Given the description of an element on the screen output the (x, y) to click on. 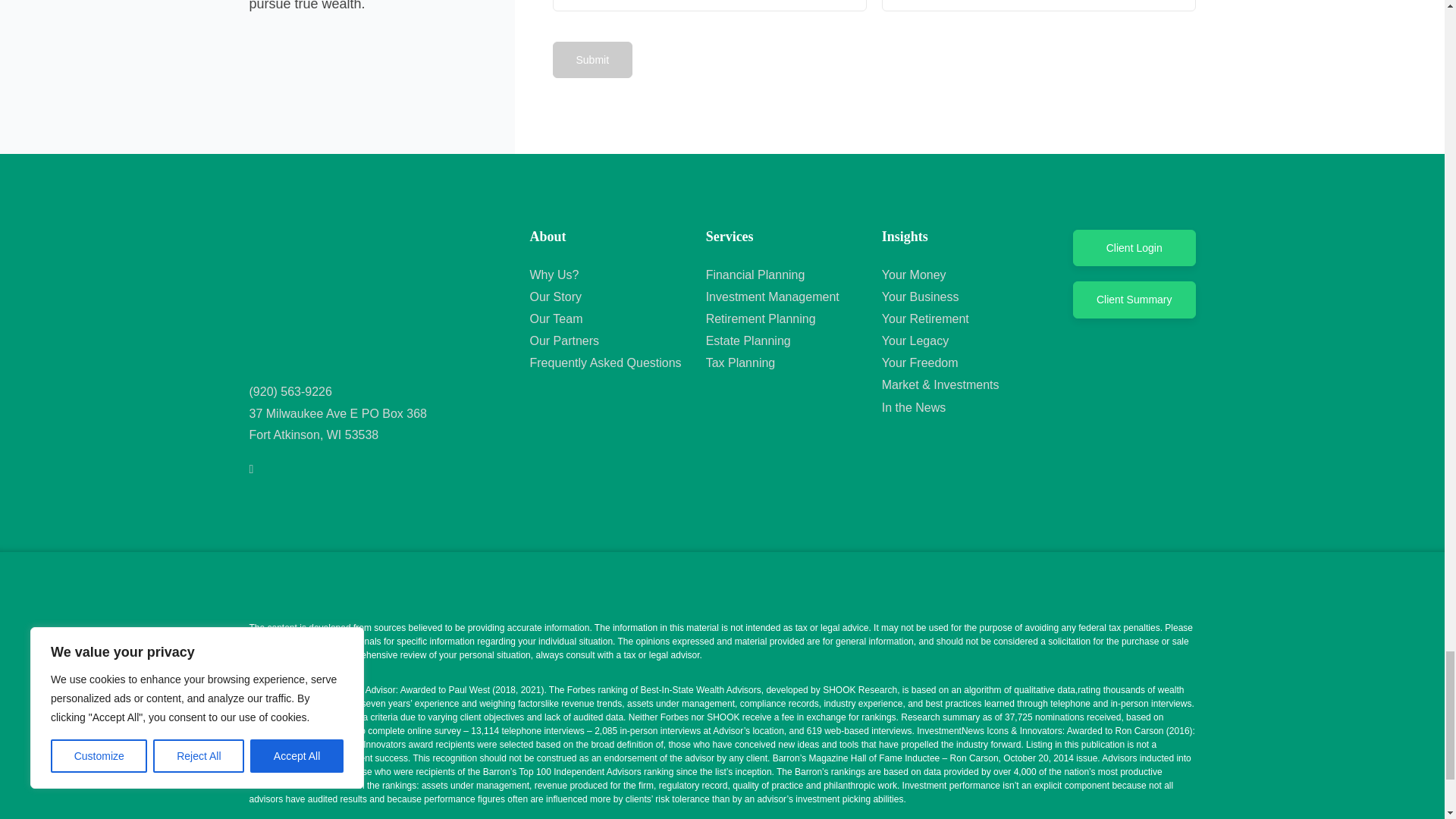
Submit (591, 59)
